Given the description of an element on the screen output the (x, y) to click on. 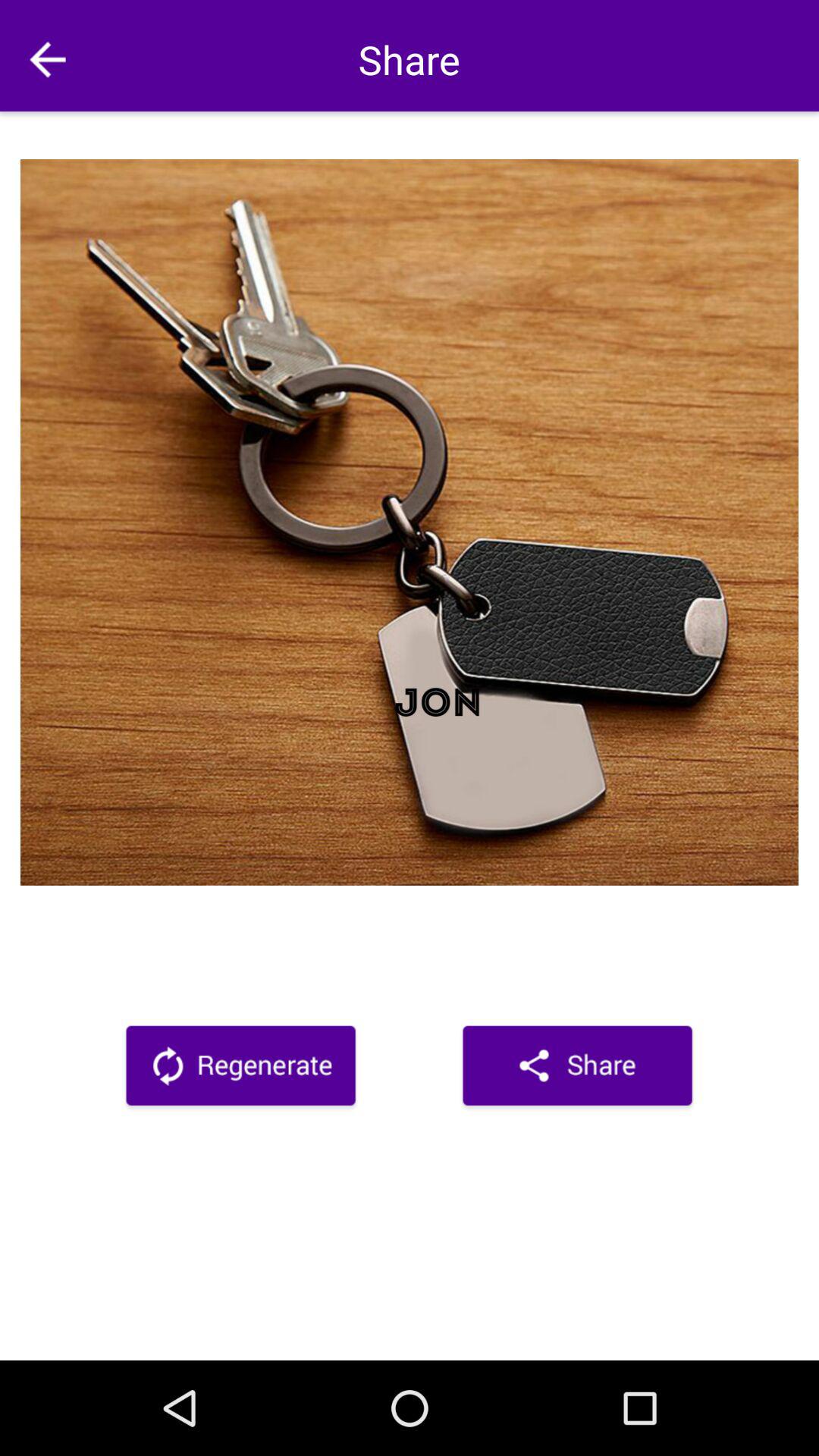
go back (47, 59)
